Given the description of an element on the screen output the (x, y) to click on. 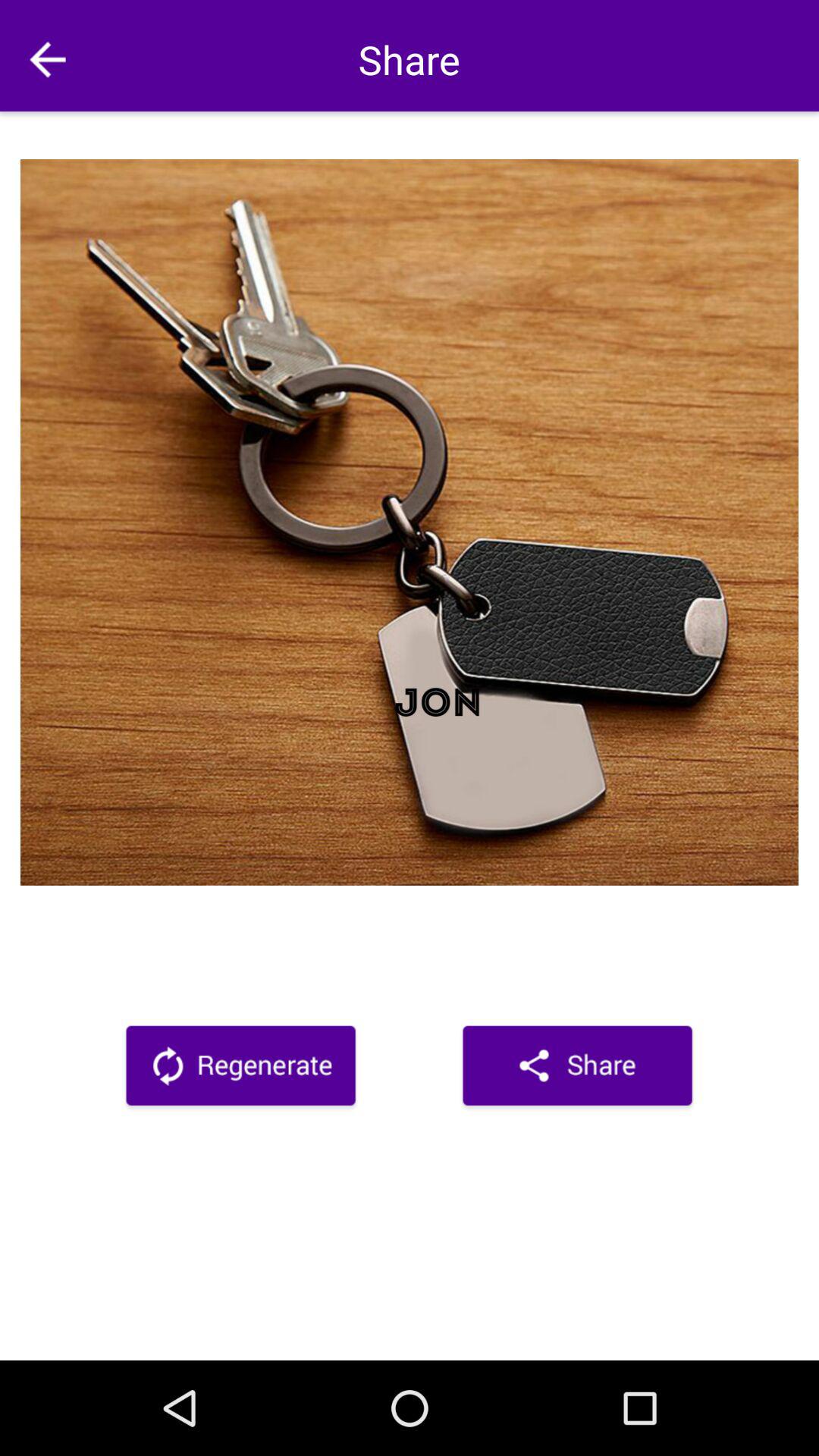
go back (47, 59)
